Given the description of an element on the screen output the (x, y) to click on. 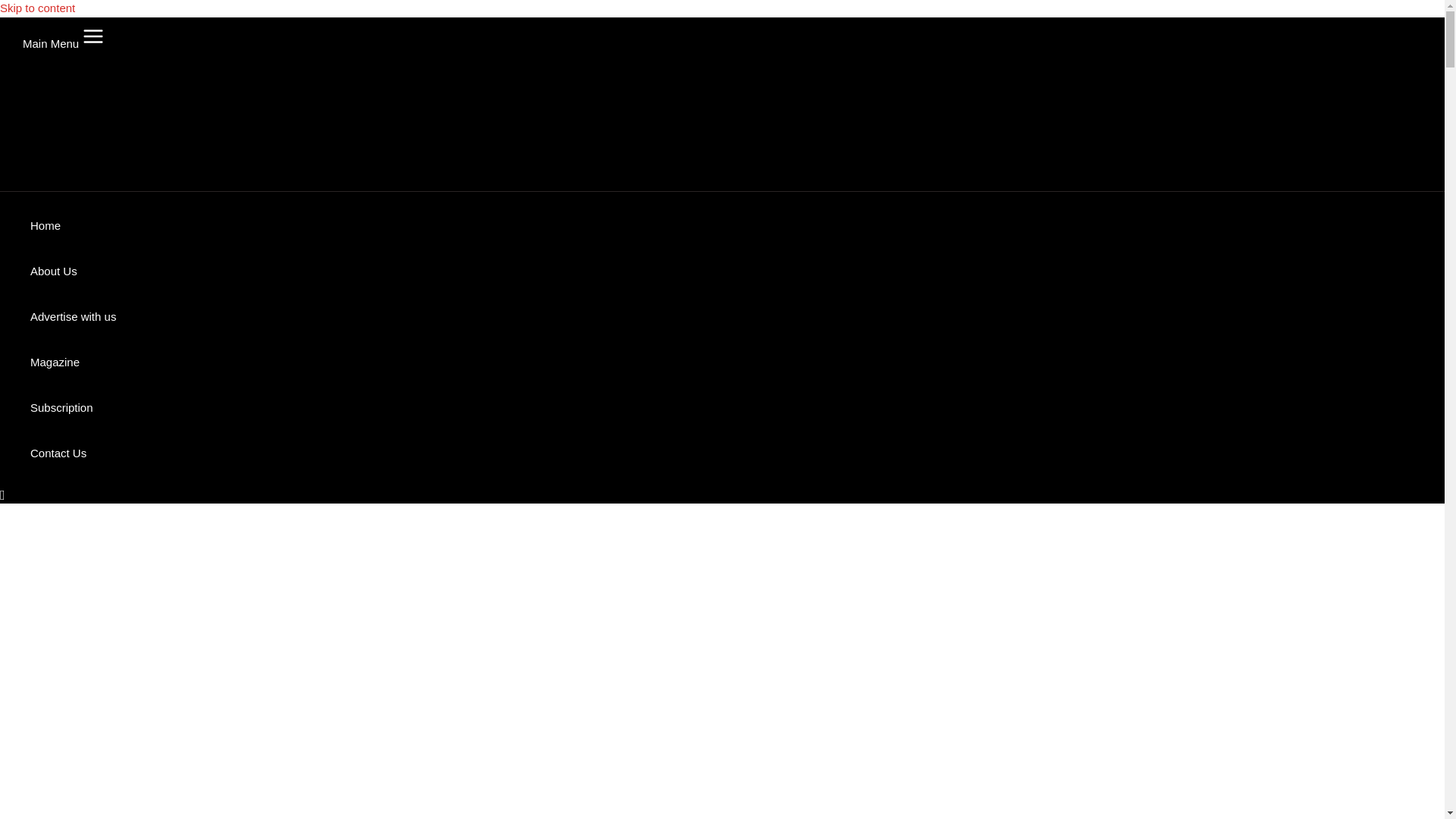
Subscription (73, 407)
Advertise with us (73, 316)
About Us (73, 271)
Home (73, 225)
Magazine (73, 361)
Main Menu (67, 36)
Contact Us (73, 452)
